Given the description of an element on the screen output the (x, y) to click on. 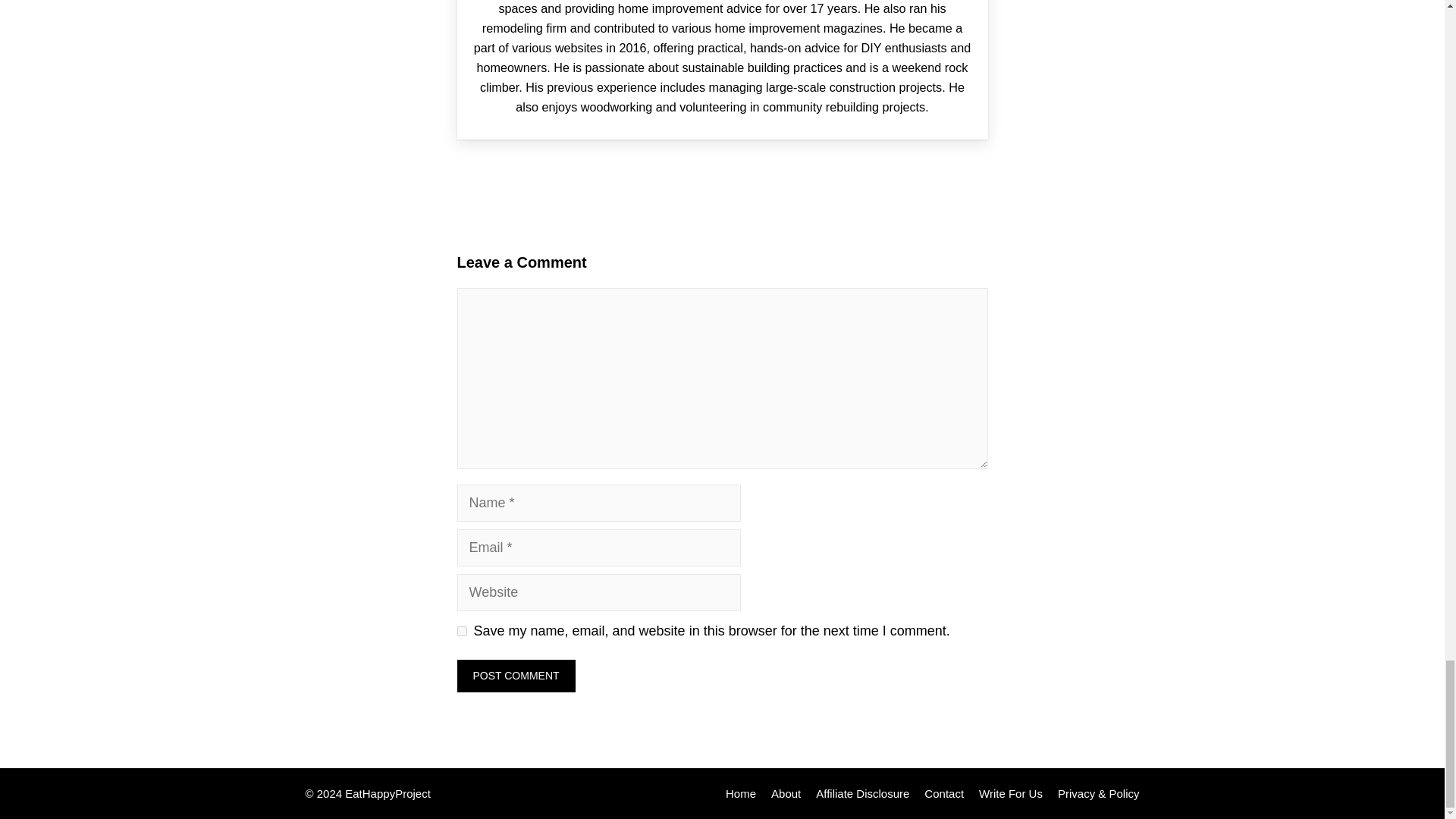
Post Comment (516, 676)
yes (461, 631)
